Given the description of an element on the screen output the (x, y) to click on. 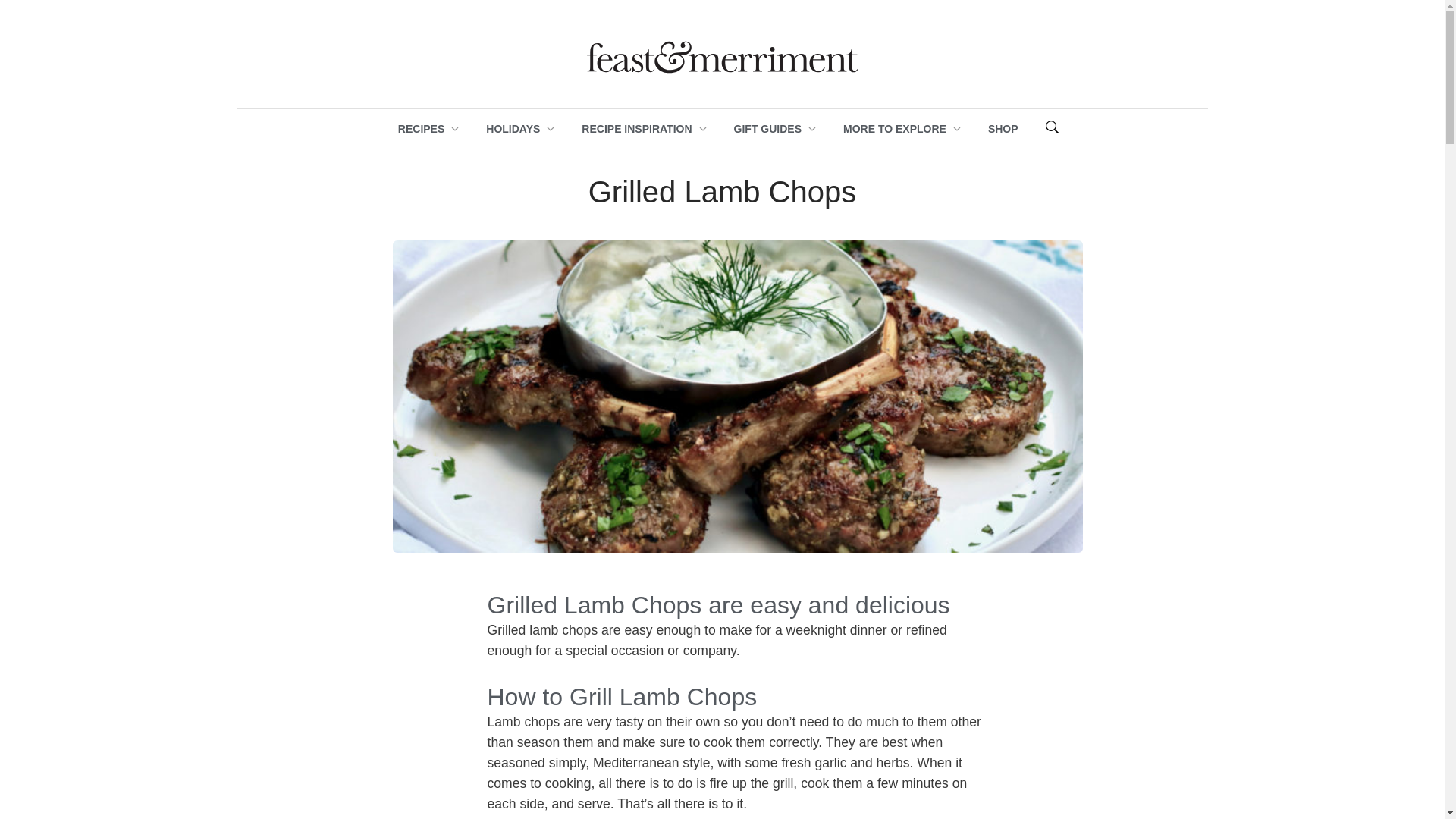
RECIPE INSPIRATION (635, 128)
HOLIDAYS (513, 128)
RECIPES (420, 128)
